Given the description of an element on the screen output the (x, y) to click on. 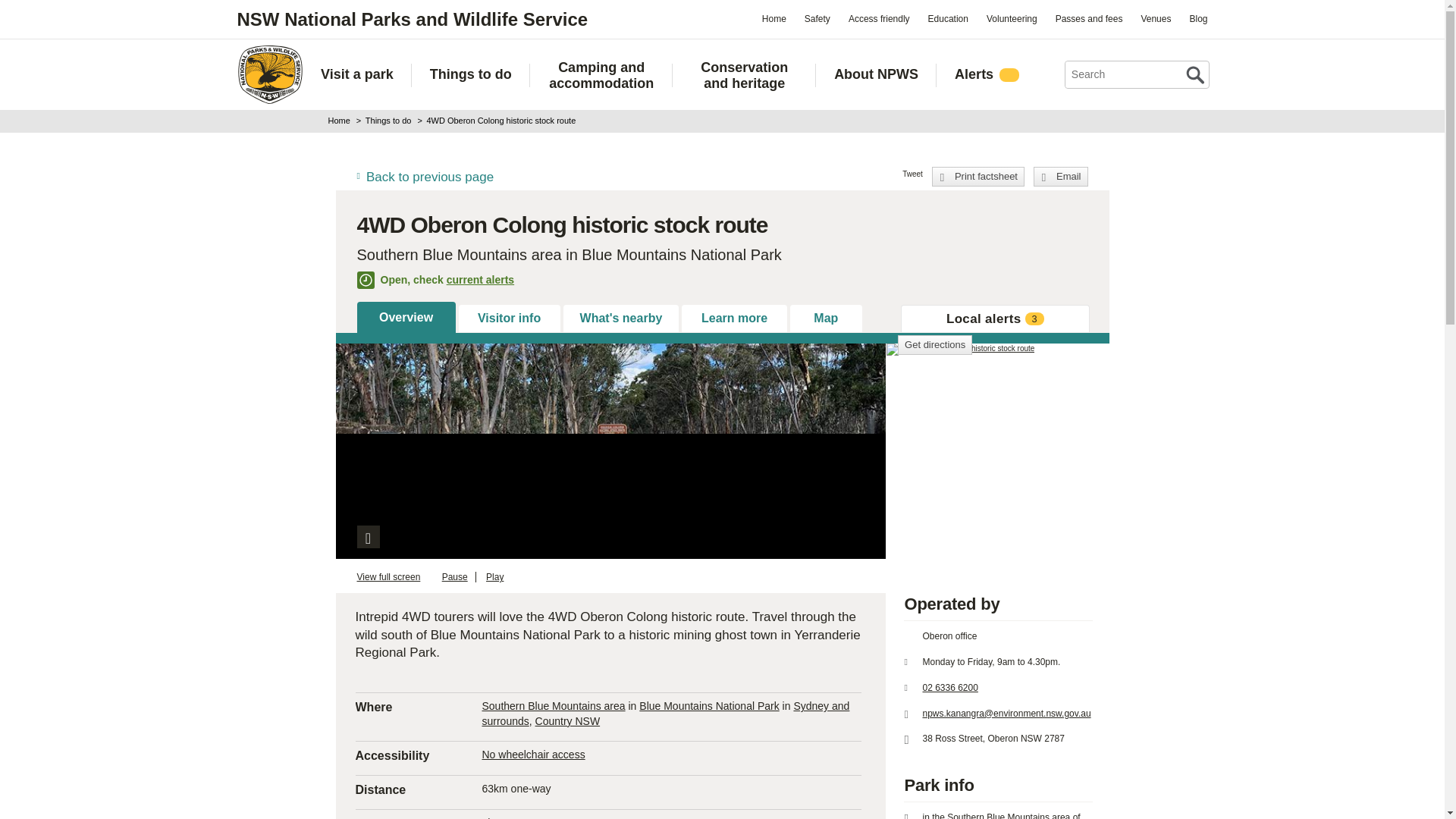
Home (268, 74)
Education (947, 18)
Safety (816, 18)
Home (773, 18)
Venues (1155, 18)
View photo in full screen (367, 536)
Volunteering (1011, 18)
Conservation and heritage (743, 75)
Visit a park (356, 74)
Print-friendly version of these webpages (978, 176)
